Given the description of an element on the screen output the (x, y) to click on. 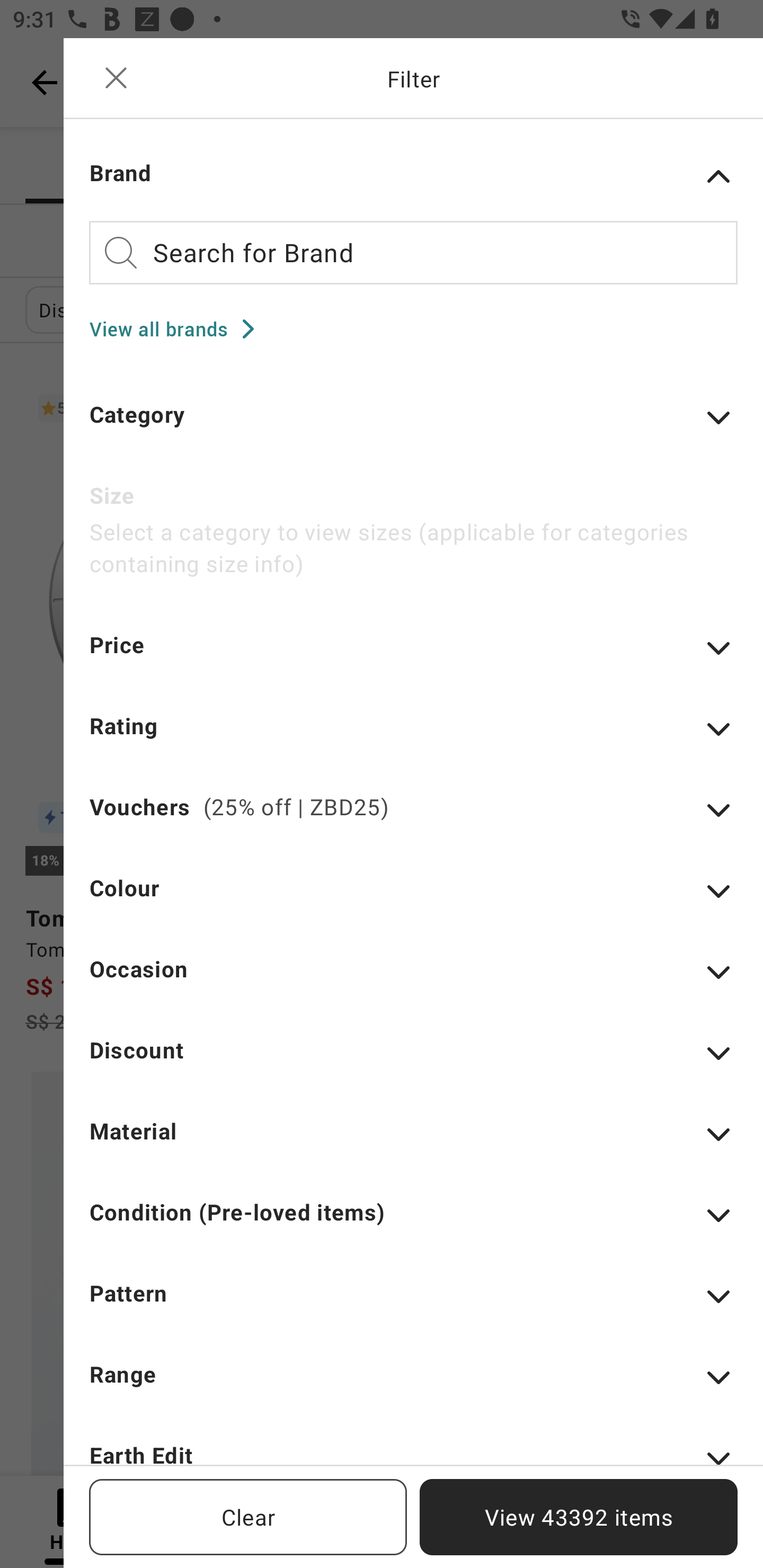
Brand (413, 176)
Search for Brand (413, 252)
View all brands (177, 328)
Category (413, 426)
Price (413, 656)
Rating (413, 738)
Vouchers (25% off | ZBD25) (413, 818)
Colour (413, 899)
Occasion (413, 981)
Discount (413, 1061)
Material (413, 1142)
Condition (Pre-loved items) (413, 1224)
Pattern (413, 1304)
Range (413, 1386)
Earth Edit (413, 1451)
Clear (247, 1516)
View 43392 items (578, 1516)
